Given the description of an element on the screen output the (x, y) to click on. 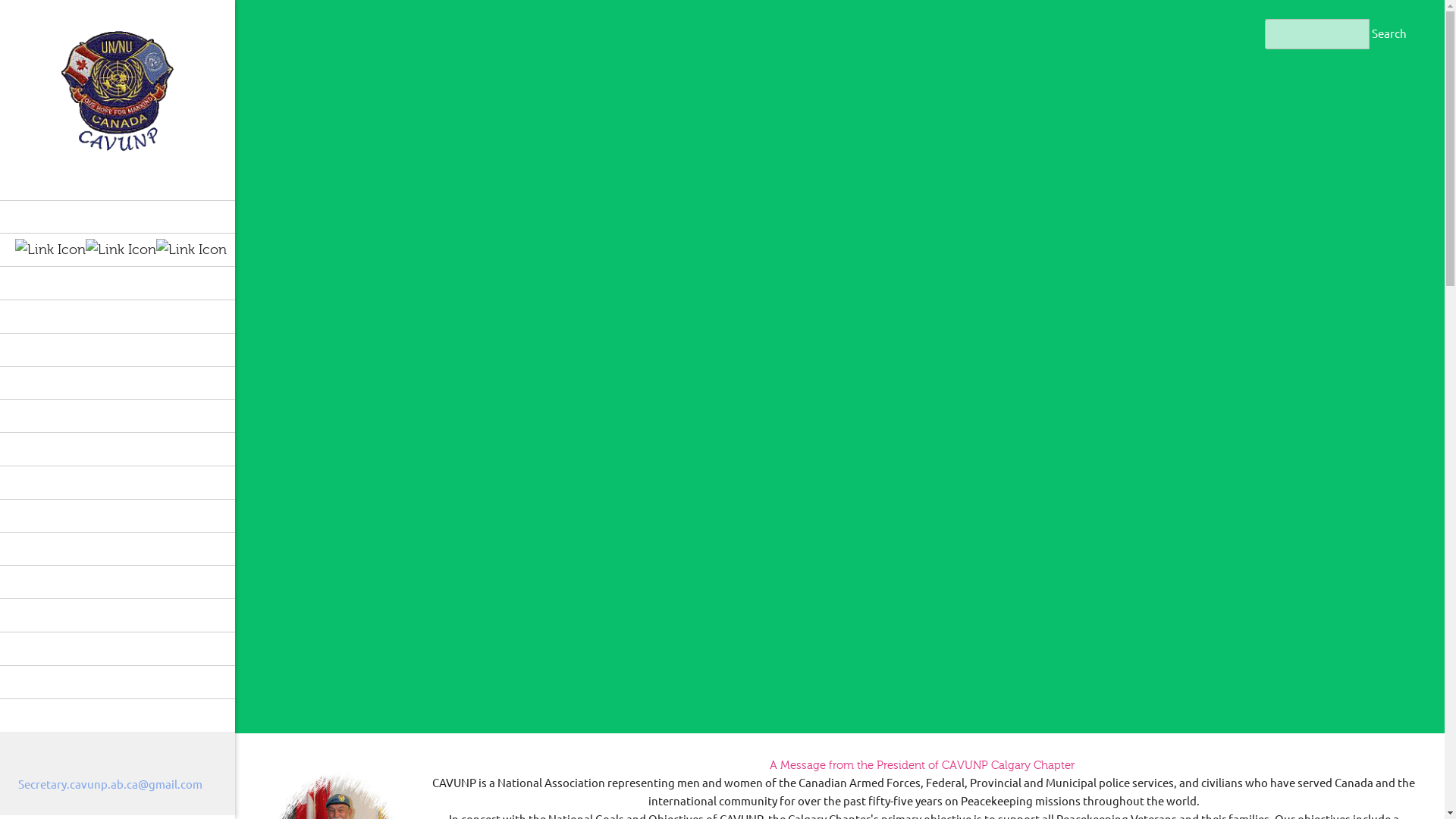
Executives (117, 715)
Photo Gallery 2022 (117, 415)
Members ONLY page (117, 648)
Photo Gallery 2019 (117, 515)
Photo Gallery 2021 (117, 449)
Photo Gallery 2020 (117, 482)
Photo Gallery Page 2 (117, 548)
Go to site home page (116, 90)
Upcoming Events (117, 315)
Photo Gallery 2023 (117, 382)
